Given the description of an element on the screen output the (x, y) to click on. 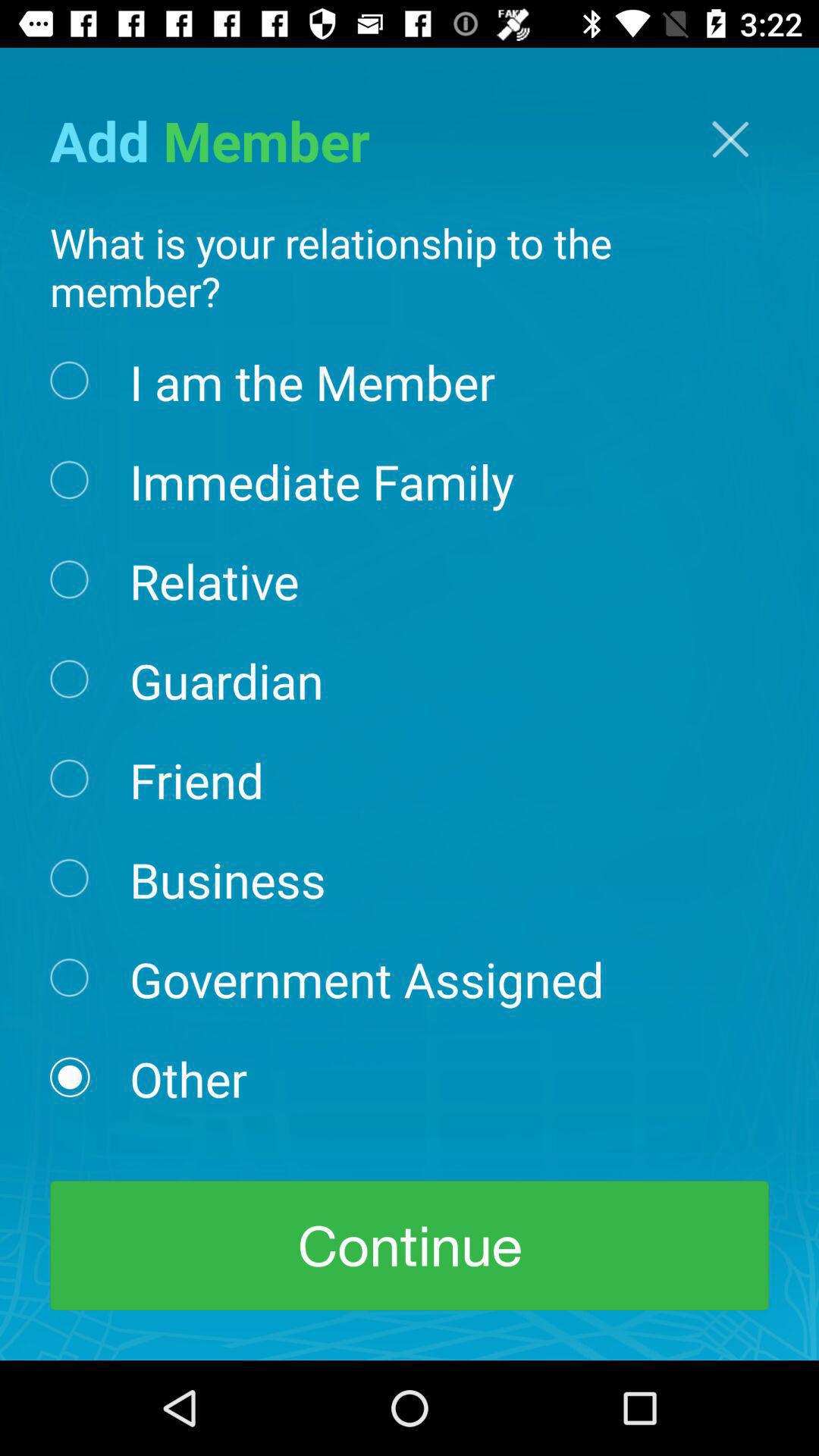
close window (730, 139)
